Given the description of an element on the screen output the (x, y) to click on. 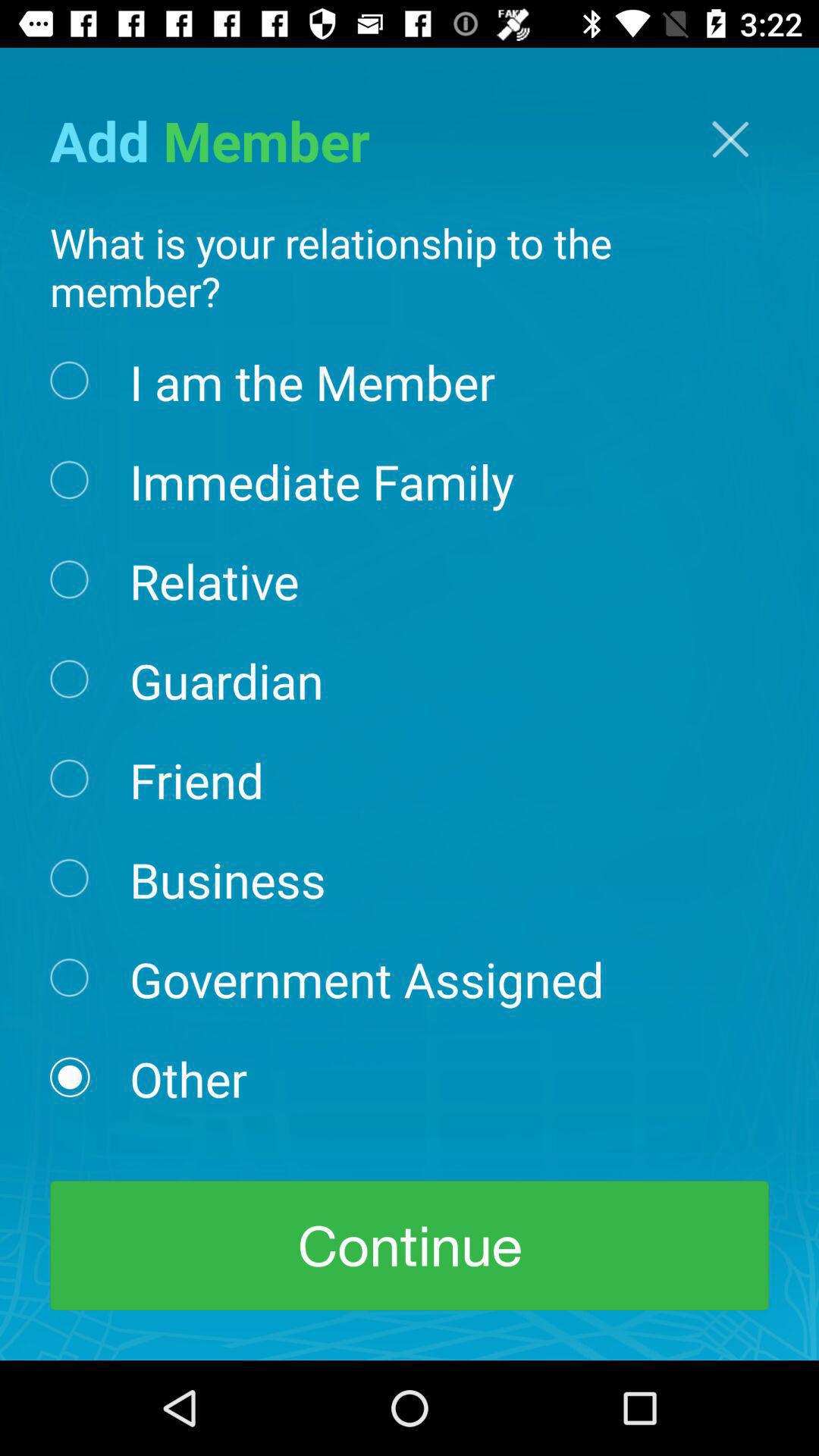
close window (730, 139)
